Given the description of an element on the screen output the (x, y) to click on. 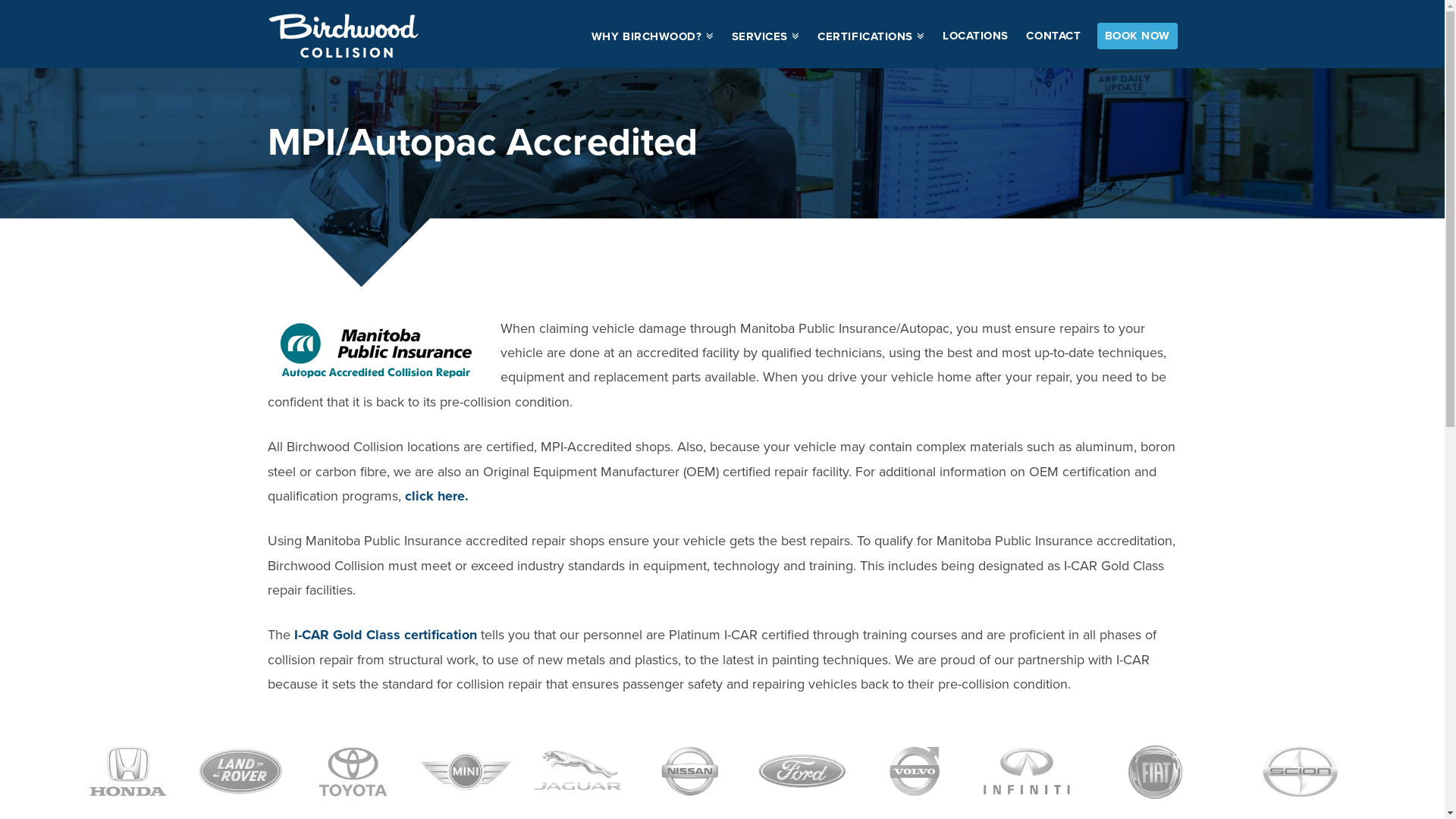
Honda Element type: hover (128, 771)
Your choice for autobody repair in Winnipeg, Manitoba Element type: hover (342, 35)
Nissan Element type: hover (689, 771)
I-CAR Gold Class certification Element type: text (385, 634)
Land Rover Element type: hover (240, 771)
Toyota Element type: hover (352, 771)
Fiat Element type: hover (1154, 771)
Infiniti Element type: hover (1026, 771)
Scion Element type: hover (1299, 771)
click here. Element type: text (436, 495)
LOCATIONS Element type: text (974, 34)
CERTIFICATIONS Element type: text (870, 34)
Ford Element type: hover (802, 771)
SERVICES Element type: text (765, 34)
BOOK NOW Element type: text (1137, 35)
MINI Element type: hover (465, 771)
WHY BIRCHWOOD? Element type: text (652, 34)
CONTACT Element type: text (1052, 34)
Volvo Element type: hover (914, 771)
Jaguar Element type: hover (577, 771)
